Given the description of an element on the screen output the (x, y) to click on. 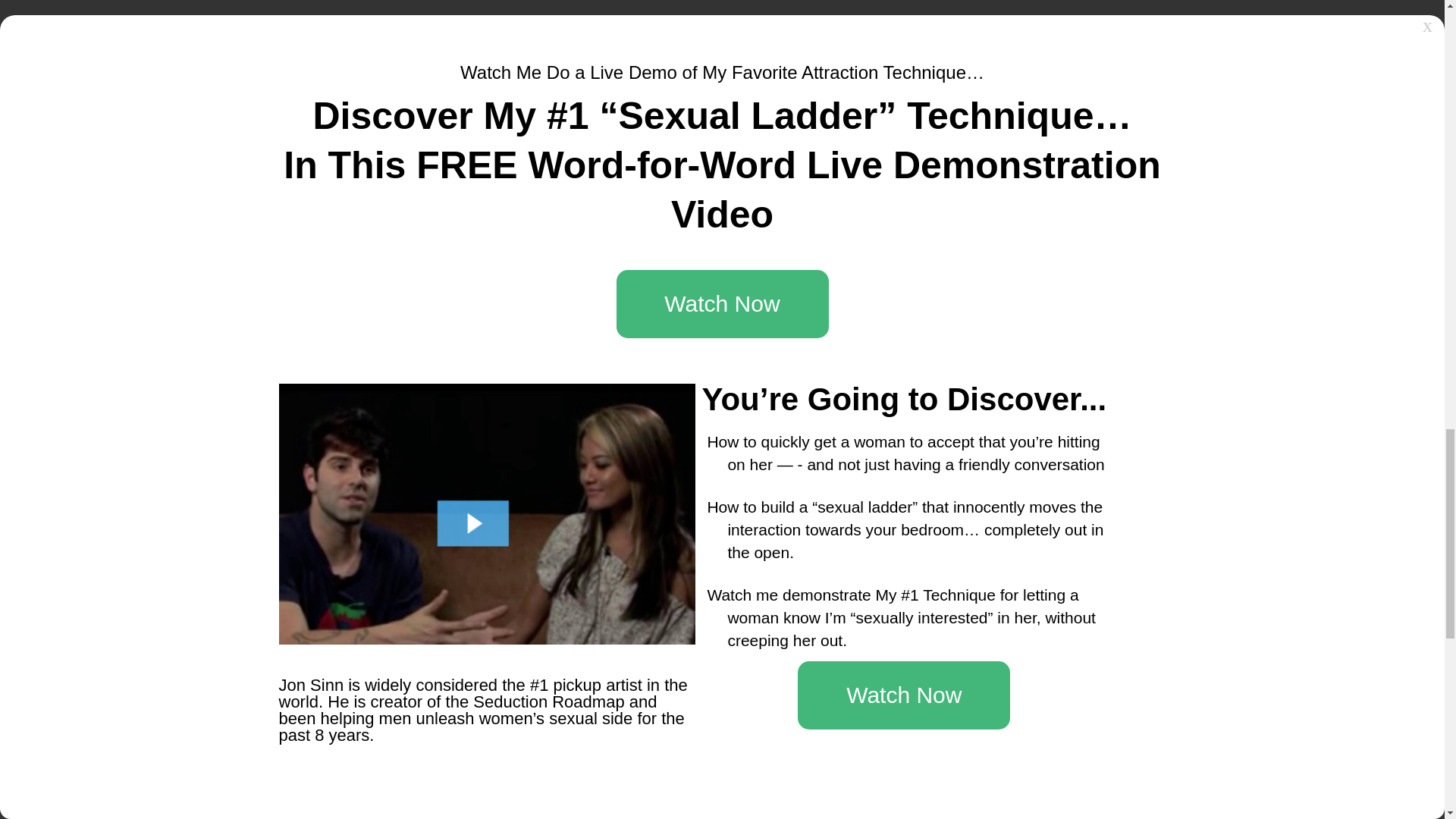
Share (609, 412)
